Given the description of an element on the screen output the (x, y) to click on. 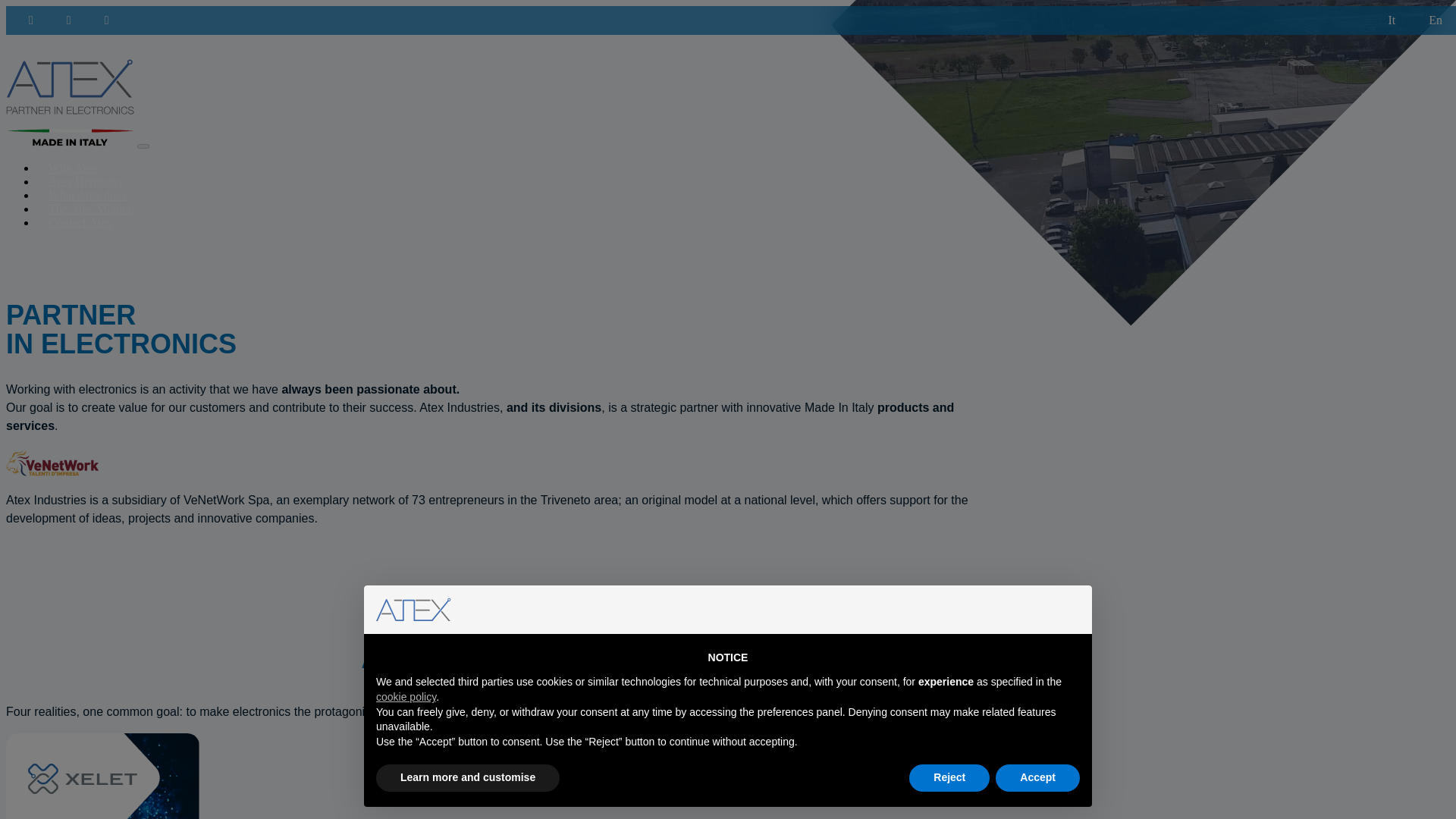
Learn more and customise (467, 777)
The Atex Method (91, 208)
cookie policy (405, 696)
What Atex does (87, 195)
Contact Atex (79, 222)
En (1435, 20)
Why Atex (73, 167)
Atex Divisions (84, 181)
Reject (949, 777)
